Given the description of an element on the screen output the (x, y) to click on. 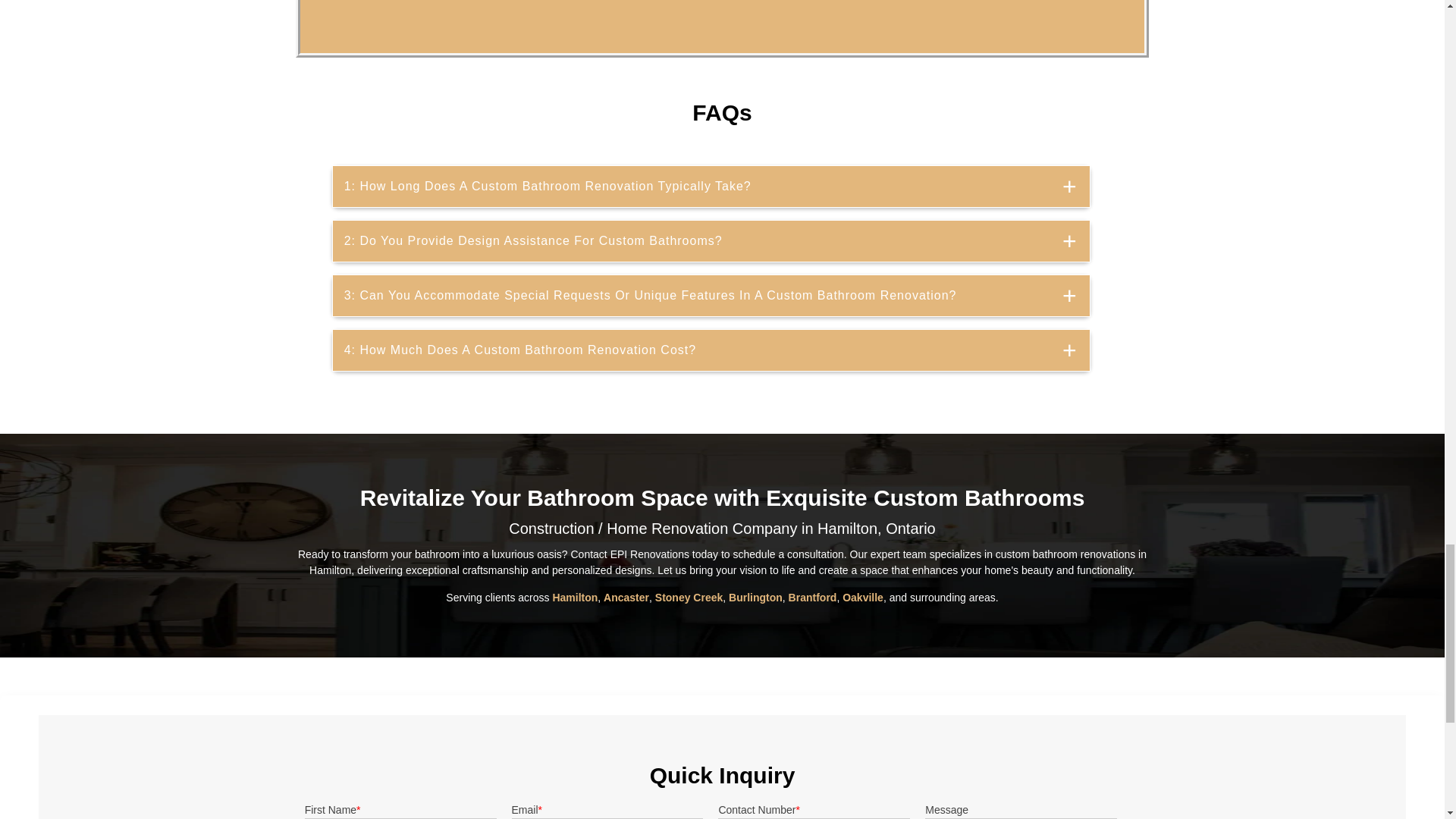
Oakville (863, 597)
Ancaster (626, 597)
Stoney Creek (688, 597)
Brantford (813, 597)
Burlington (756, 597)
Hamilton (573, 597)
